Given the description of an element on the screen output the (x, y) to click on. 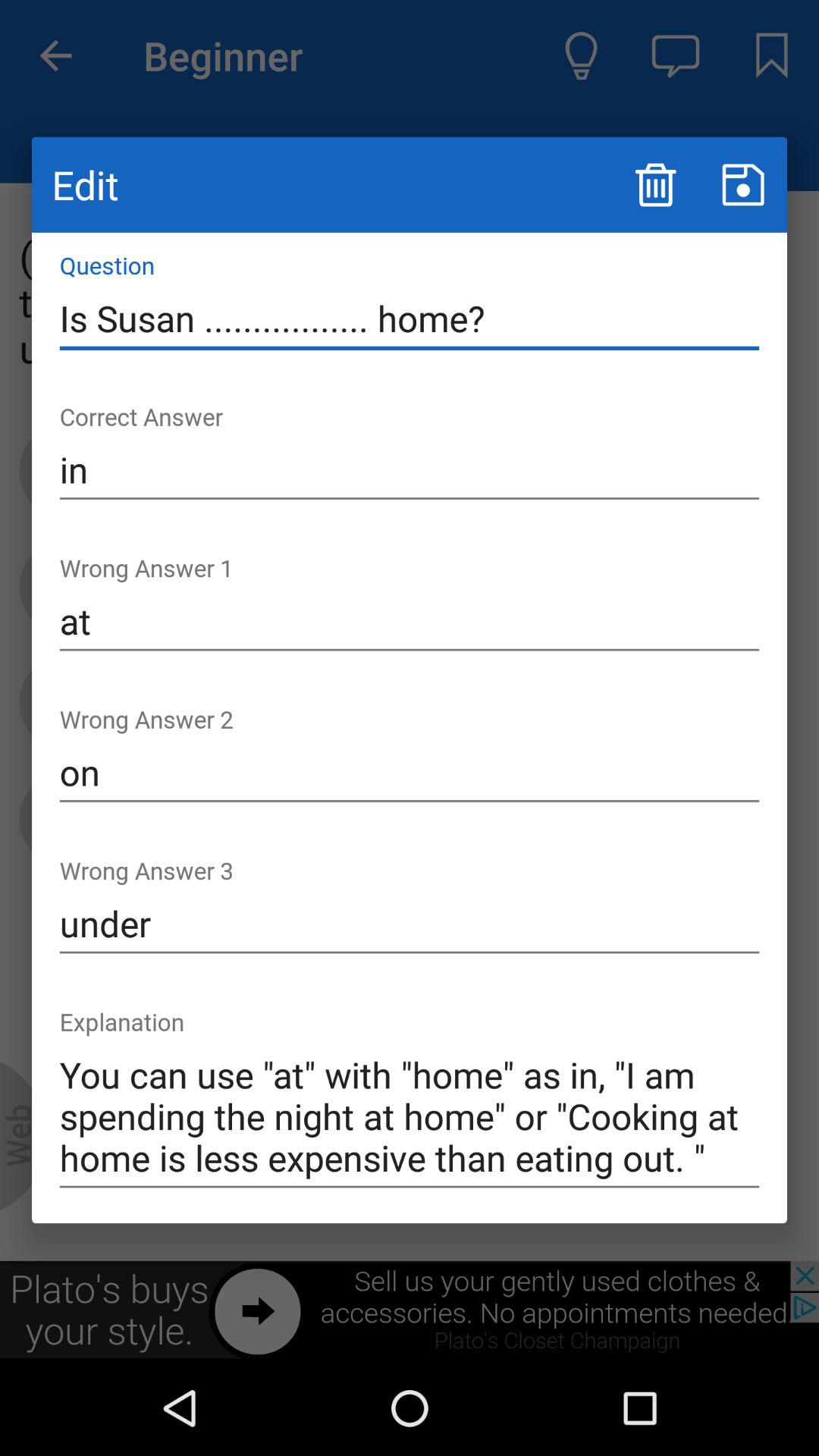
swipe until is susan ................. home?  item (409, 319)
